Given the description of an element on the screen output the (x, y) to click on. 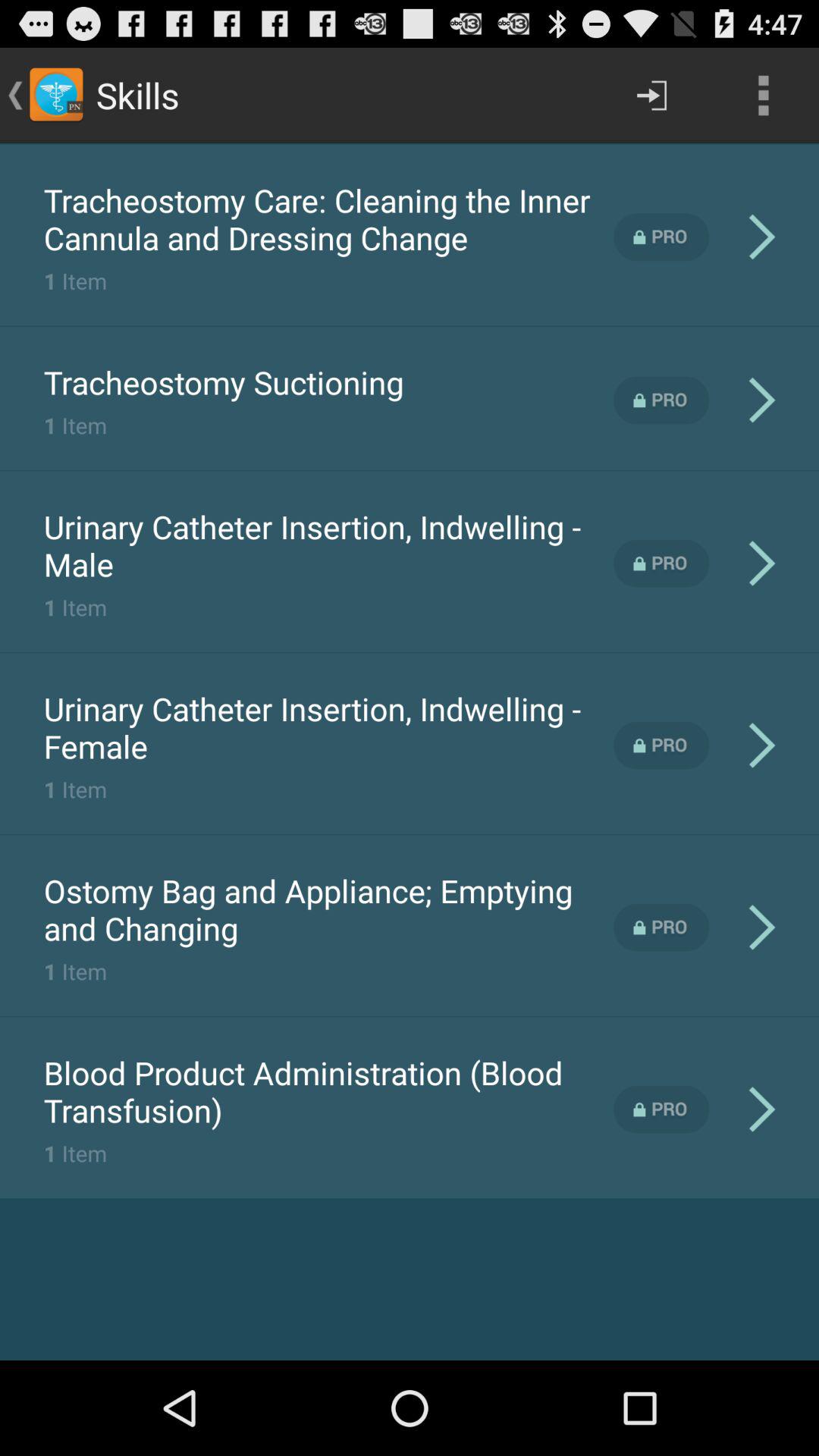
turn on the icon above tracheostomy care cleaning app (409, 143)
